Given the description of an element on the screen output the (x, y) to click on. 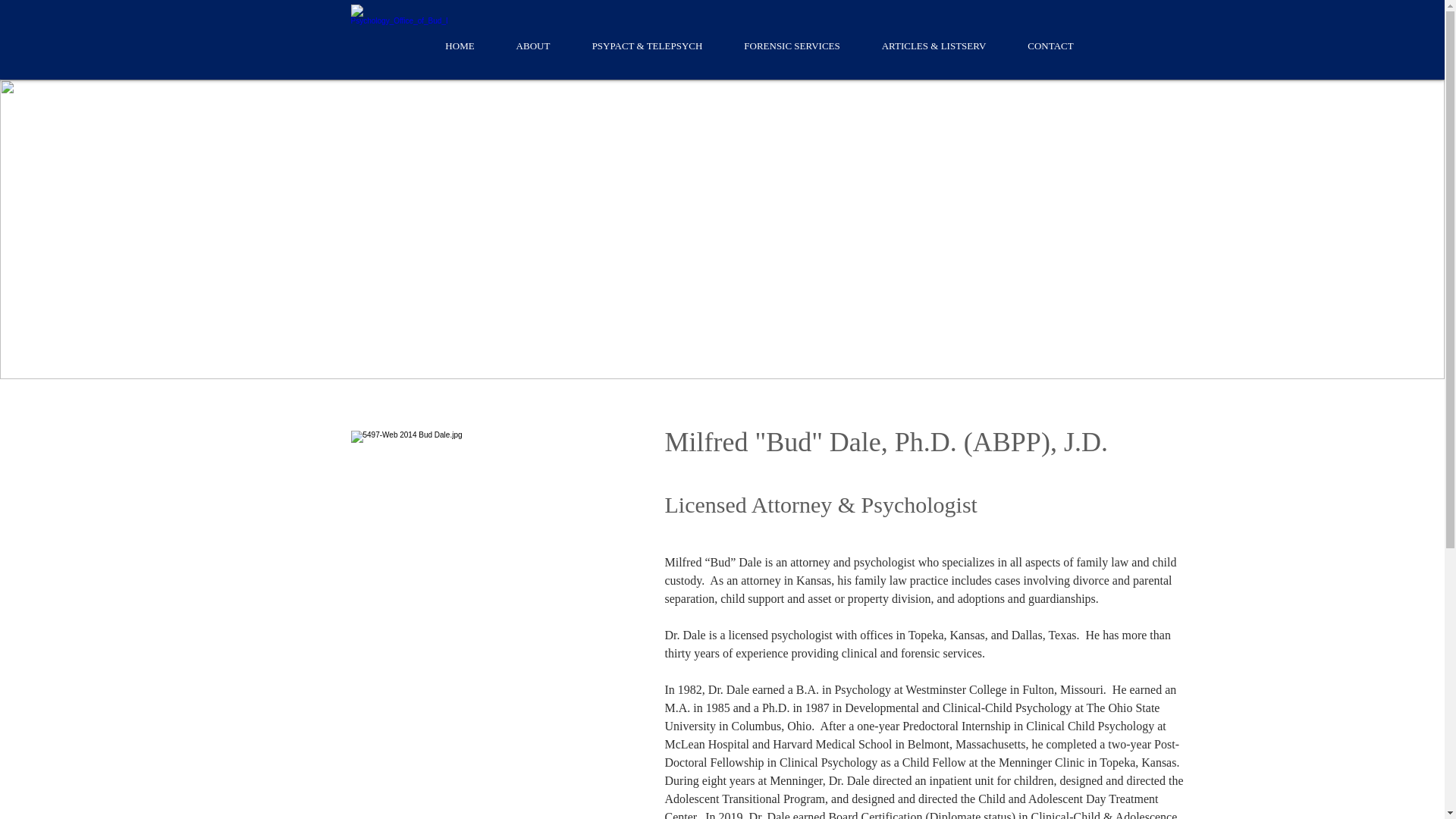
CONTACT (1050, 45)
FORENSIC SERVICES (791, 45)
ABOUT (532, 45)
HOME (460, 45)
